Given the description of an element on the screen output the (x, y) to click on. 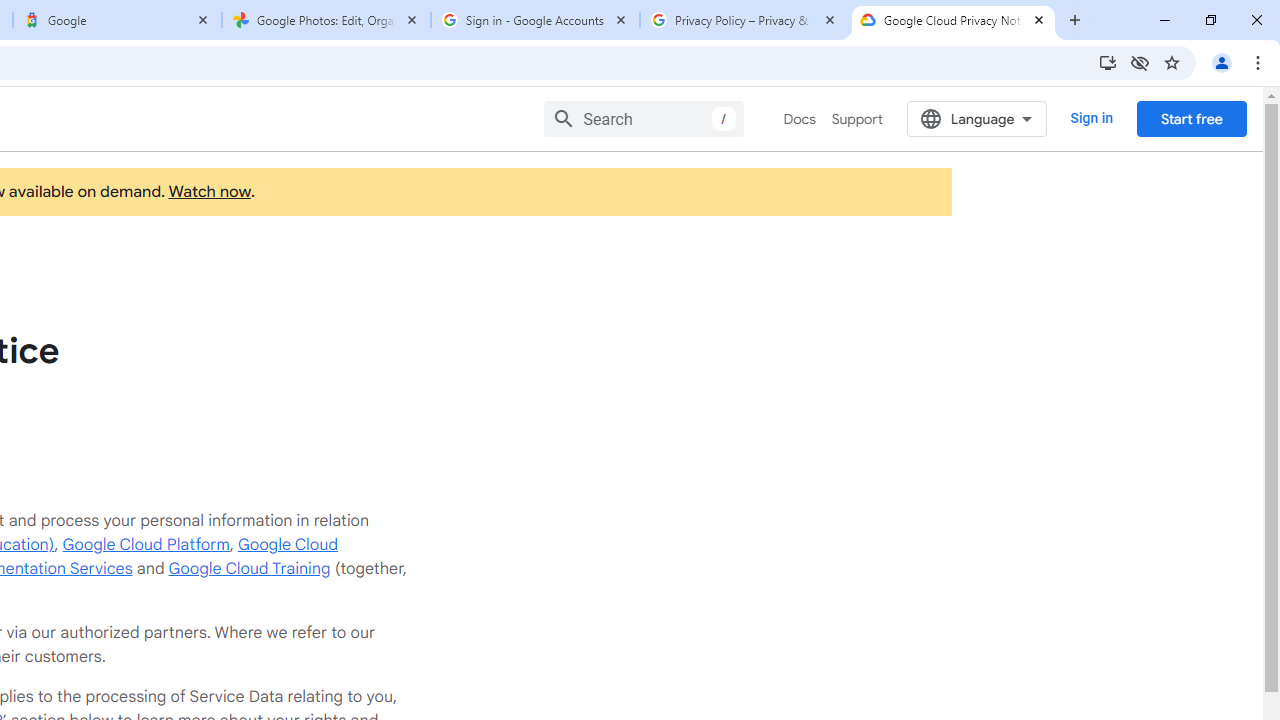
Google Cloud Training (249, 568)
Start free (1191, 118)
Docs (799, 119)
